Given the description of an element on the screen output the (x, y) to click on. 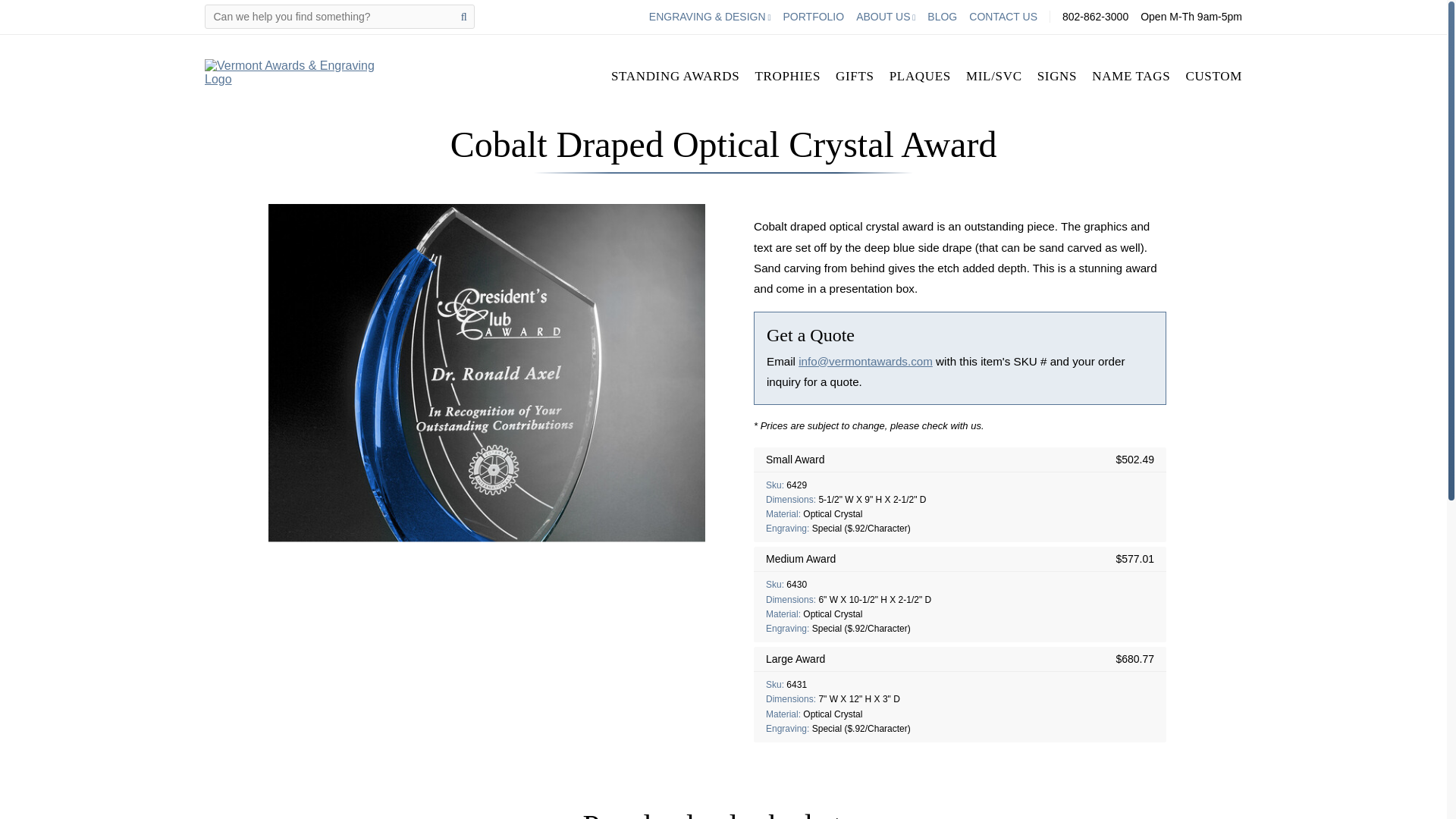
STANDING AWARDS (675, 76)
TROPHIES (787, 76)
SIGNS (1056, 76)
PLAQUES (919, 76)
NAME TAGS (1131, 76)
802-862-3000 (1095, 16)
GIFTS (855, 76)
PORTFOLIO (813, 16)
CUSTOM (1213, 76)
CONTACT US (1002, 16)
